Given the description of an element on the screen output the (x, y) to click on. 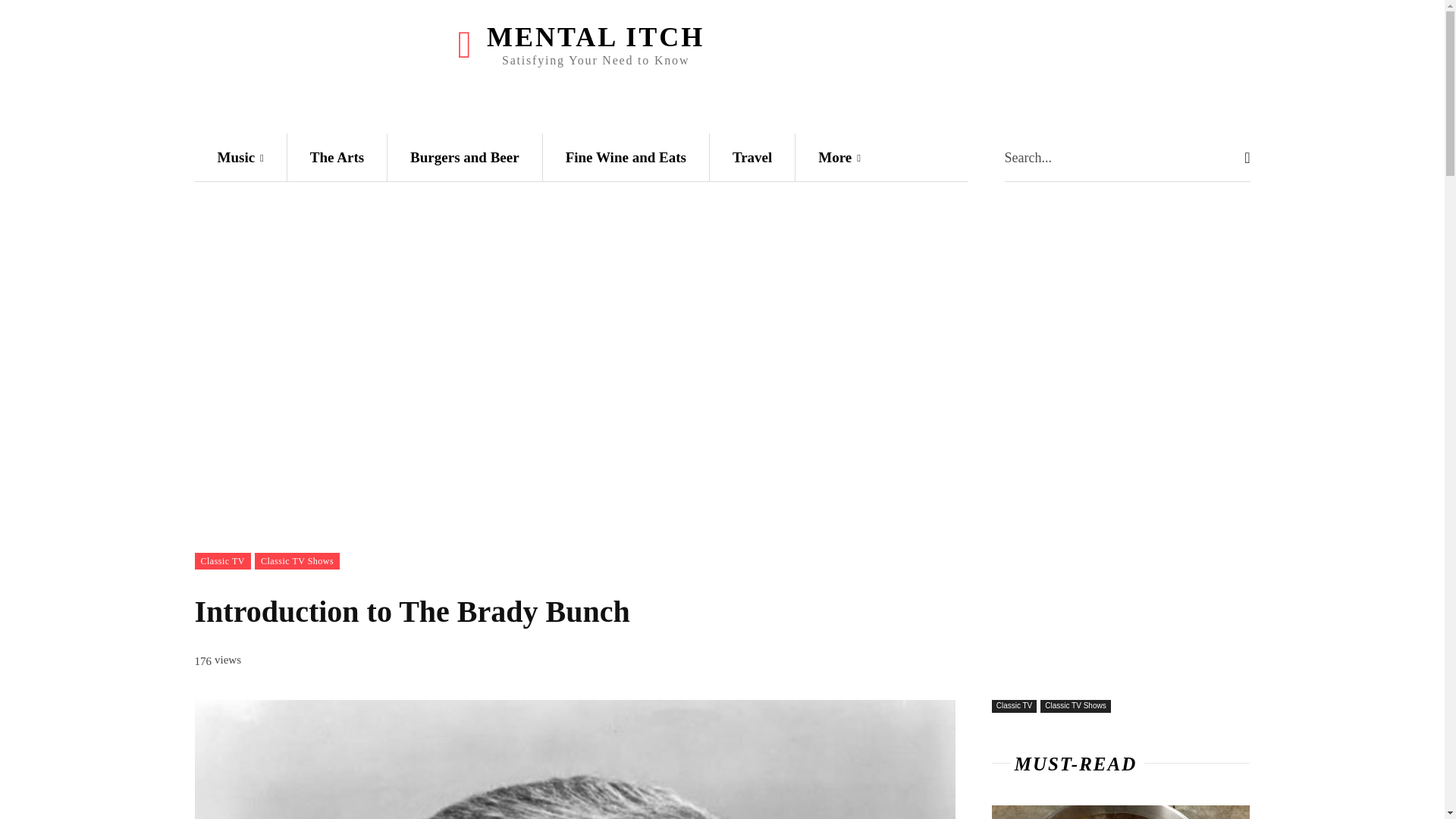
What Is Wort and Why Is It So Important for Beer Brewing? (1120, 812)
Introduction to The Brady Bunch (574, 759)
